Given the description of an element on the screen output the (x, y) to click on. 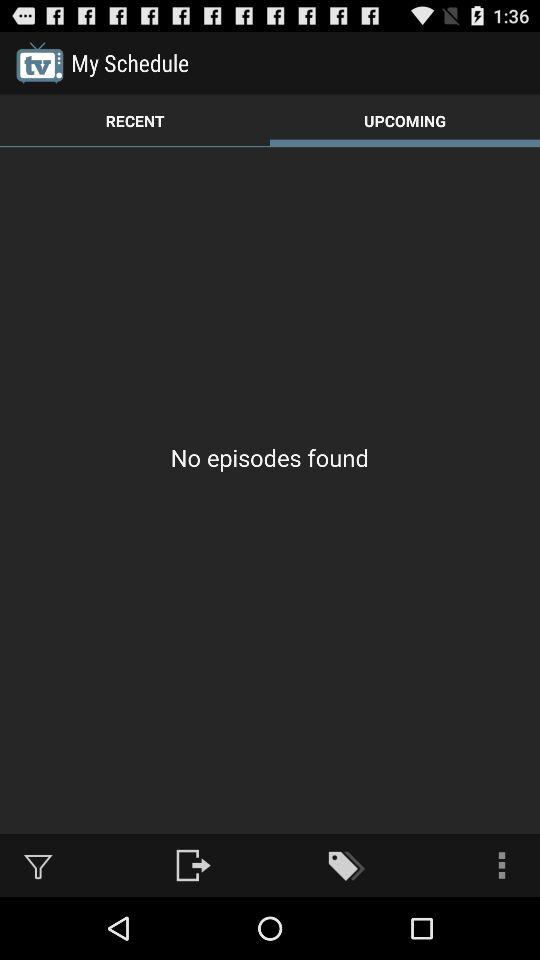
choose the app above no episodes found app (135, 120)
